Given the description of an element on the screen output the (x, y) to click on. 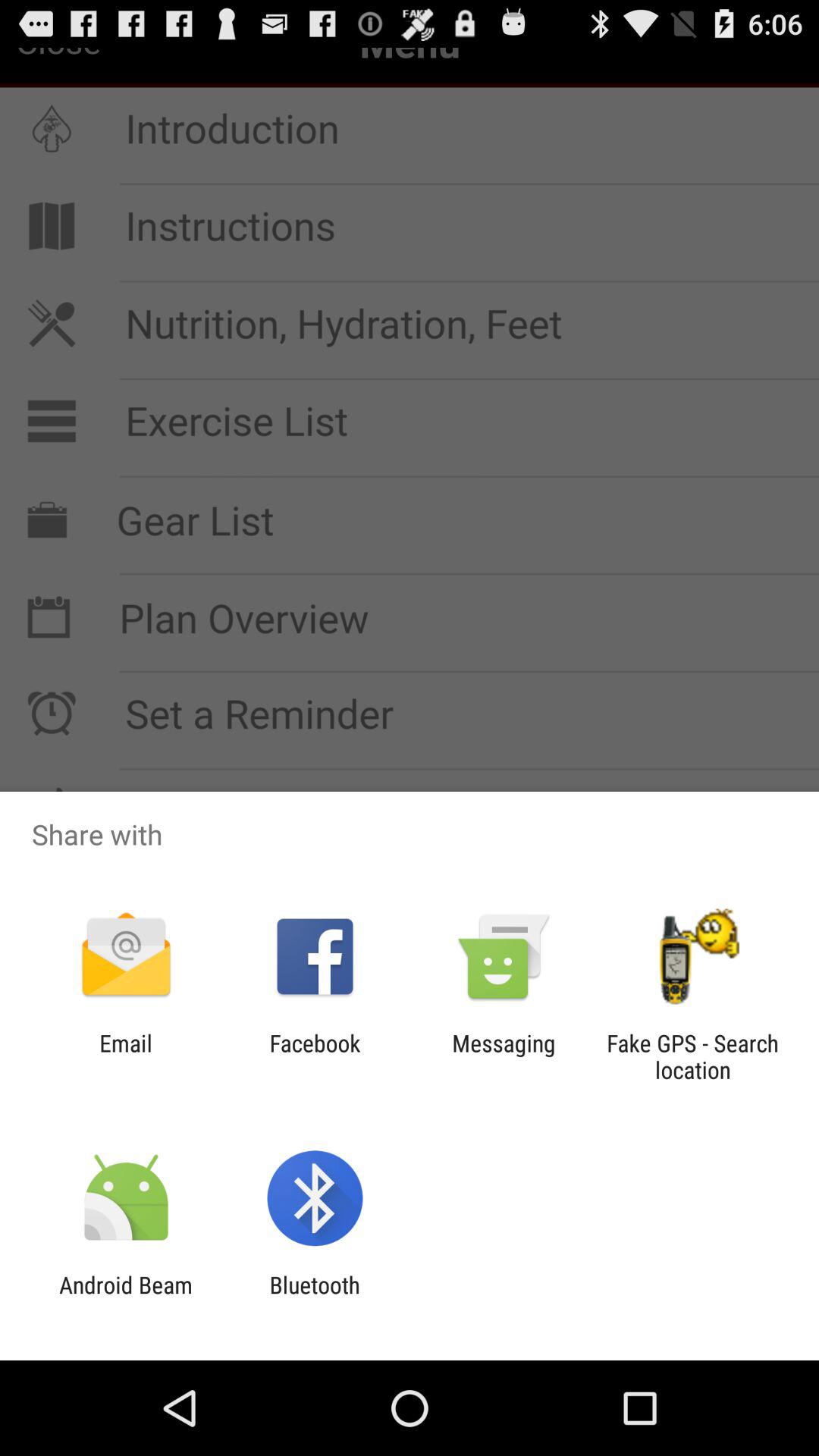
turn off the app to the right of the facebook app (503, 1056)
